Given the description of an element on the screen output the (x, y) to click on. 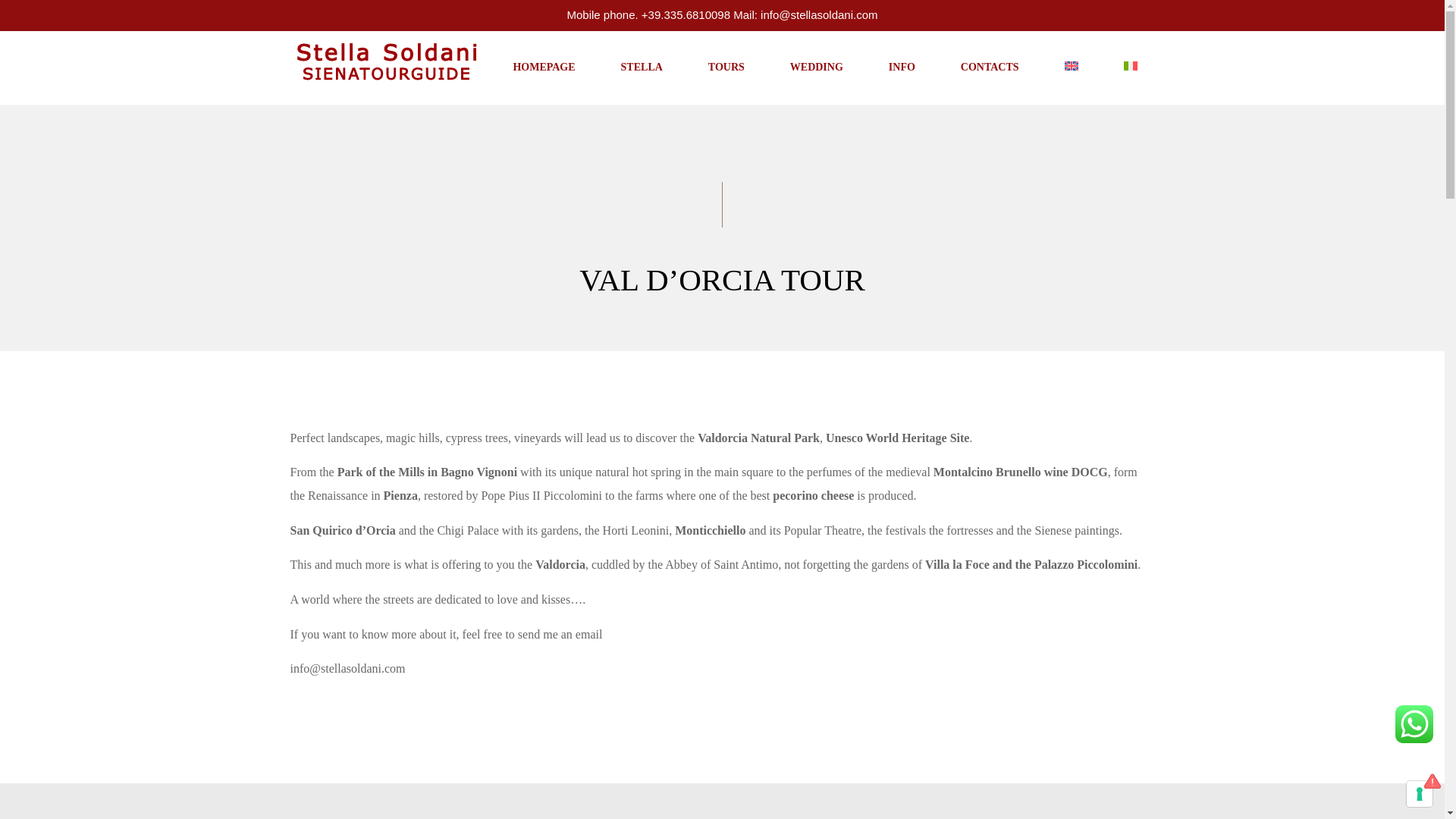
STELLA (641, 67)
Wedding (816, 67)
Info (901, 67)
Homepage (542, 67)
Tours (726, 67)
Stella Soldani guida turistica a Siena Toscana (384, 57)
CONTACTS (989, 67)
TOURS (726, 67)
HOMEPAGE (542, 67)
Stella (641, 67)
WEDDING (816, 67)
INFO (901, 67)
